Given the description of an element on the screen output the (x, y) to click on. 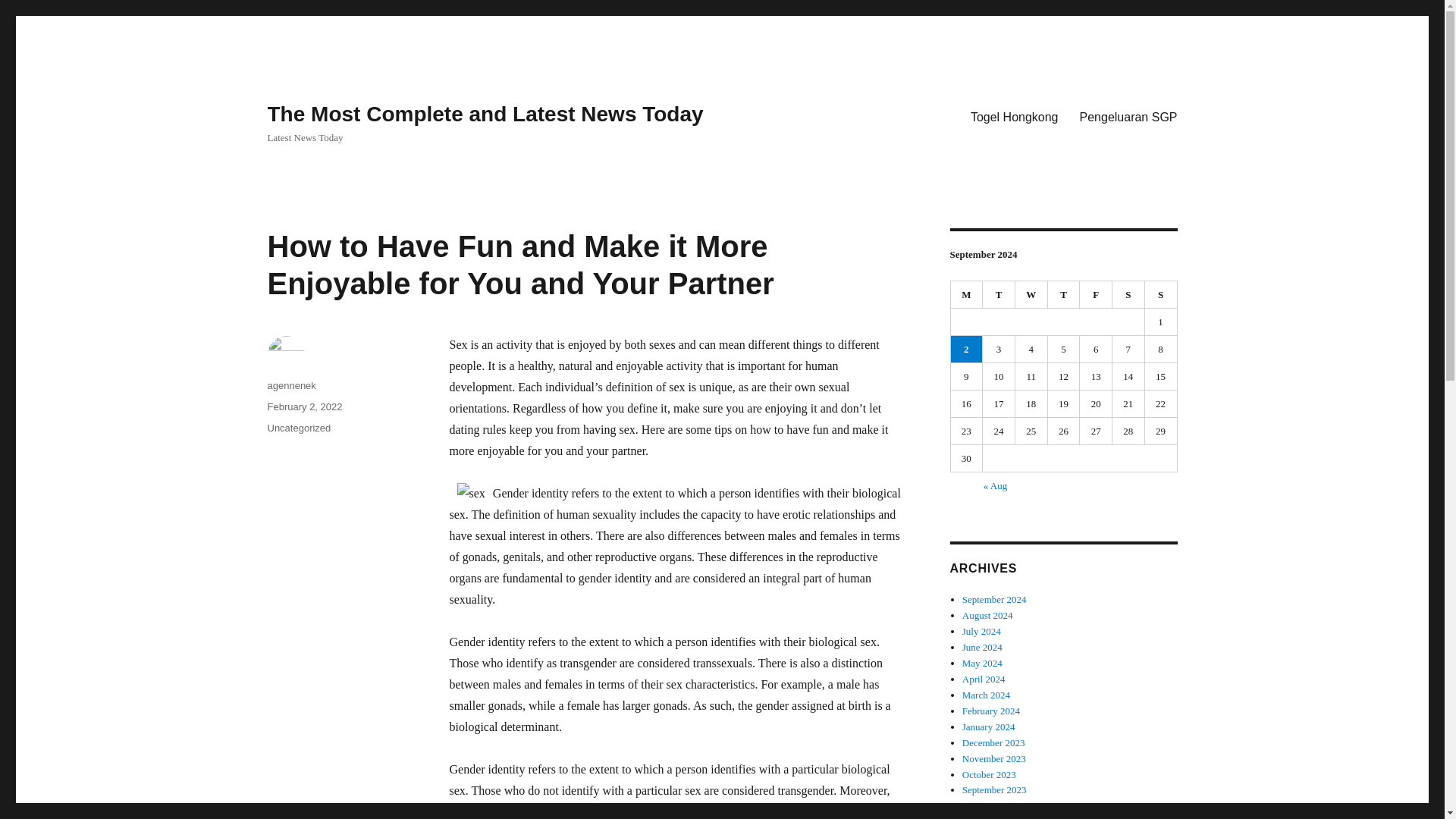
2 (966, 348)
September 2023 (994, 789)
December 2023 (993, 742)
Friday (1096, 294)
April 2024 (984, 678)
January 2024 (988, 726)
February 2024 (991, 710)
Pengeluaran SGP (1128, 116)
July 2023 (981, 817)
Saturday (1128, 294)
